Given the description of an element on the screen output the (x, y) to click on. 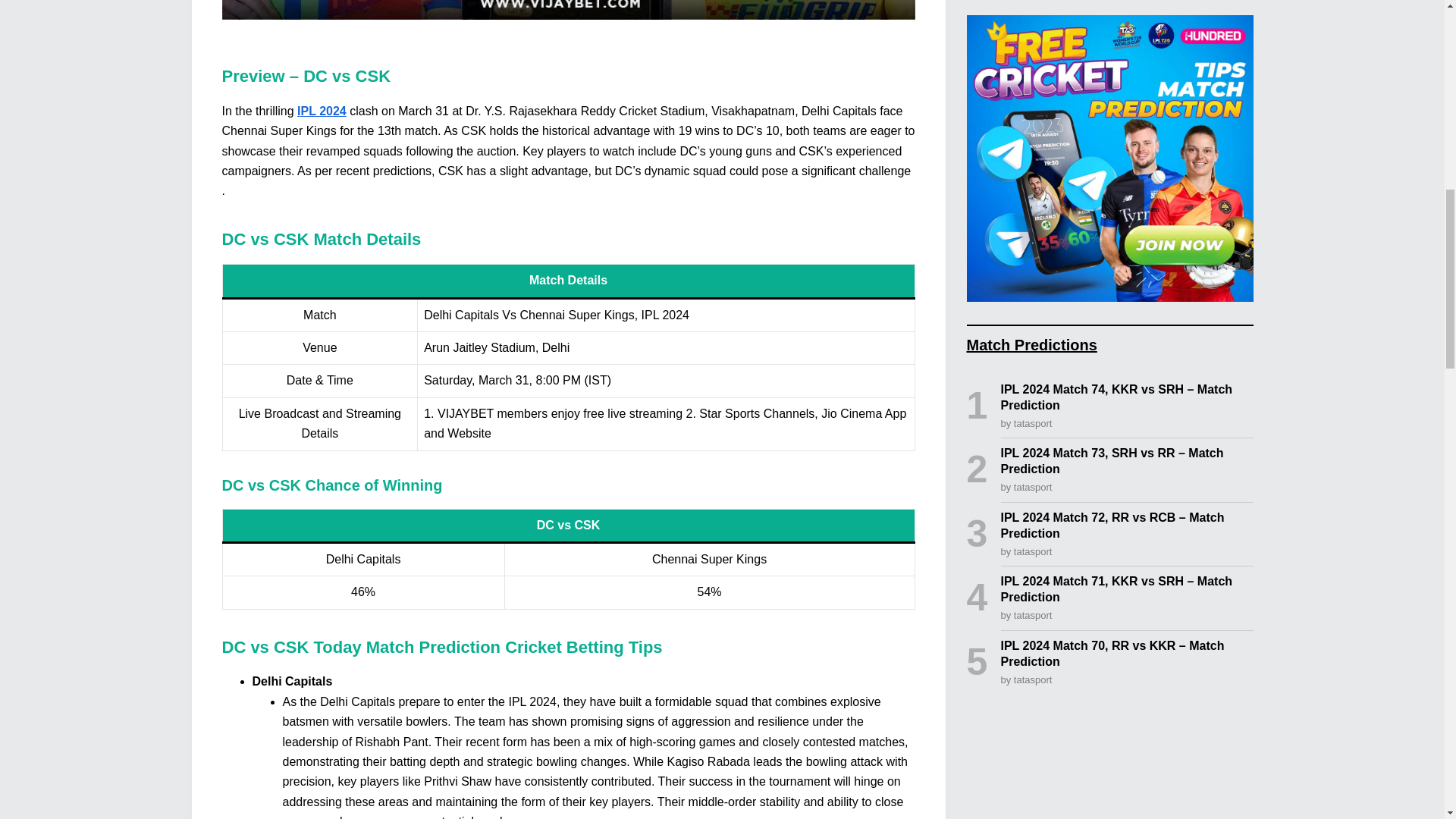
IPL 2024 (321, 110)
